Given the description of an element on the screen output the (x, y) to click on. 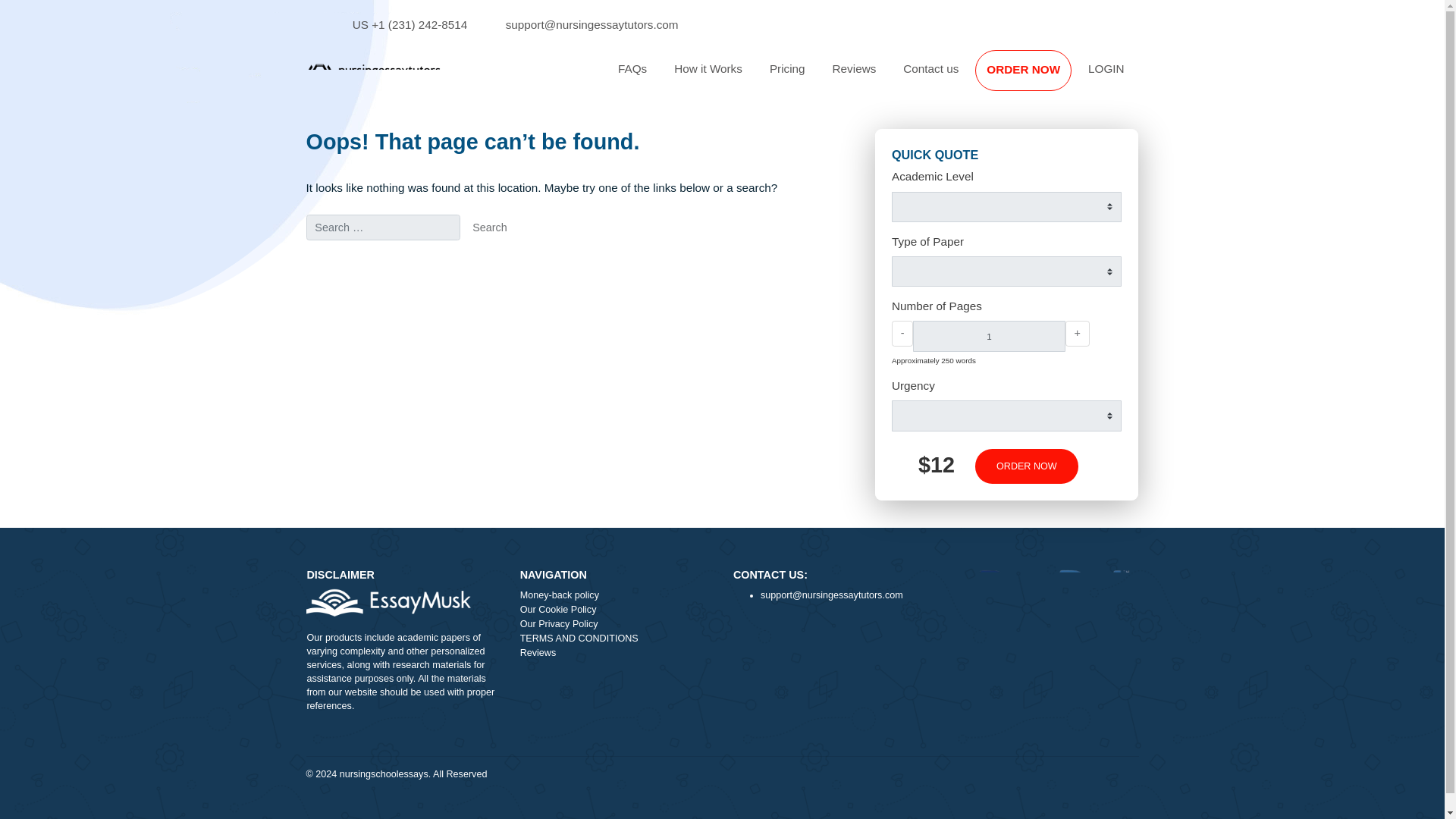
Search (544, 253)
Pricing (875, 76)
Reviews (685, 725)
TERMS AND CONDITIONS (685, 709)
How it Works (786, 76)
Search (544, 253)
LOGIN (1229, 76)
ORDER NOW (1140, 517)
Reviews (948, 76)
Search (544, 253)
Our Cookie Policy (685, 678)
1 (1098, 373)
Contact us (1034, 76)
Reviews (948, 76)
Search for: (425, 252)
